Given the description of an element on the screen output the (x, y) to click on. 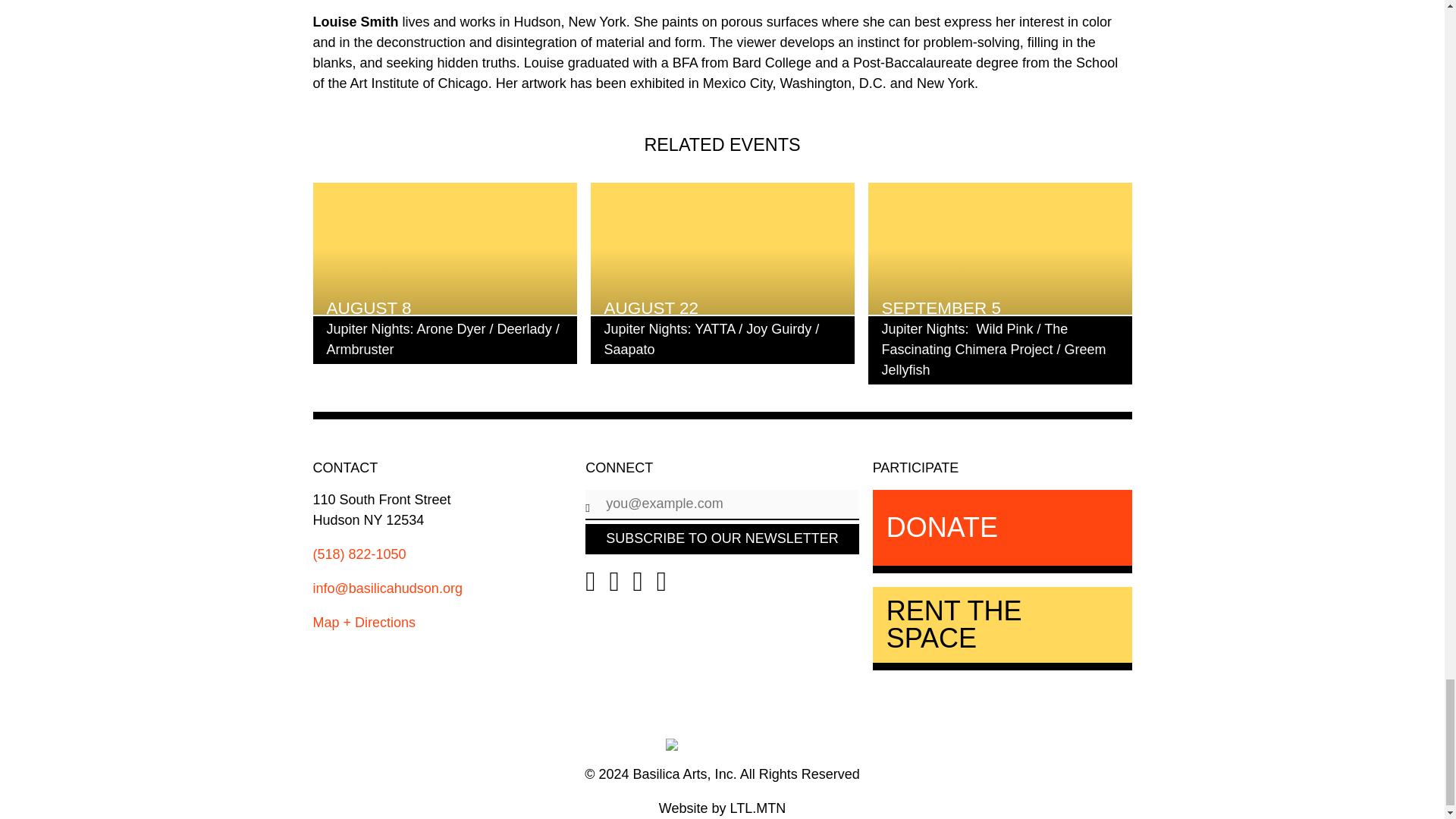
SEPTEMBER 5 (999, 248)
LTL.MTN (722, 807)
Subscribe to our Newsletter (722, 539)
AUGUST 8 (444, 248)
AUGUST 22 (721, 248)
